Given the description of an element on the screen output the (x, y) to click on. 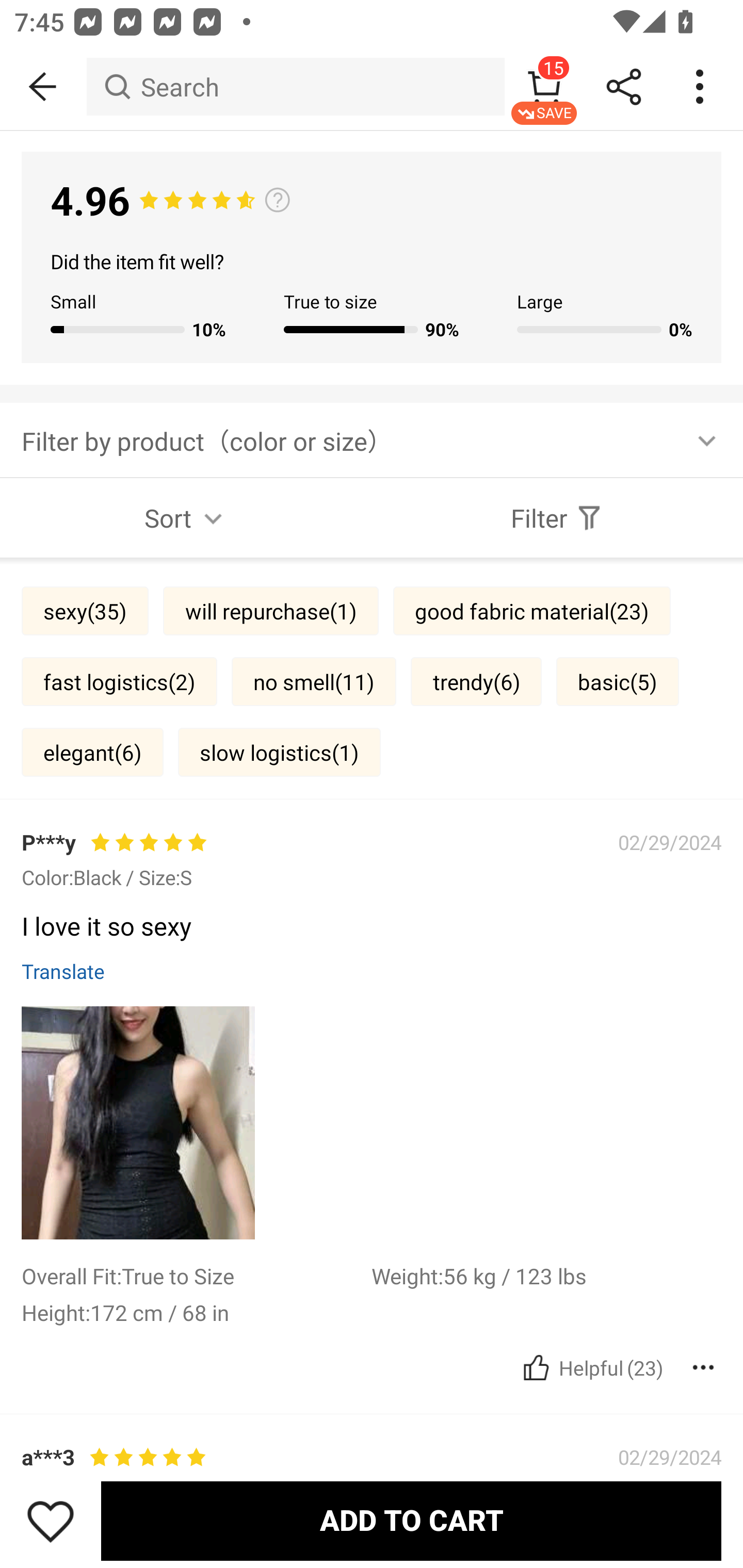
BACK (43, 86)
15 SAVE (543, 87)
Search (295, 87)
Size Type Check My Size (371, 209)
Filter by product（color or size） (371, 439)
Sort (185, 518)
Filter (557, 518)
sexy(35) (84, 610)
will repurchase(1) (270, 610)
good fabric material(23) (531, 610)
fast logistics(2) (118, 680)
no smell(11) (313, 680)
trendy(6) (475, 680)
basic(5) (617, 680)
elegant(6) (92, 751)
slow logistics(1) (279, 751)
Size Guide (371, 843)
Translate (62, 971)
Overall Fit:True to Size (196, 1275)
Weight:56 kg / 123 lbs (546, 1275)
Height:172 cm / 68 in (196, 1312)
Cancel Helpful Was this article helpful? (23) (591, 1367)
P***y Rating5.0 02/29/2024 Color:Black / Size:S (371, 1457)
ADD TO CART (411, 1520)
Save (50, 1520)
  I love it so sexy (363, 1529)
Translate (62, 1560)
